Given the description of an element on the screen output the (x, y) to click on. 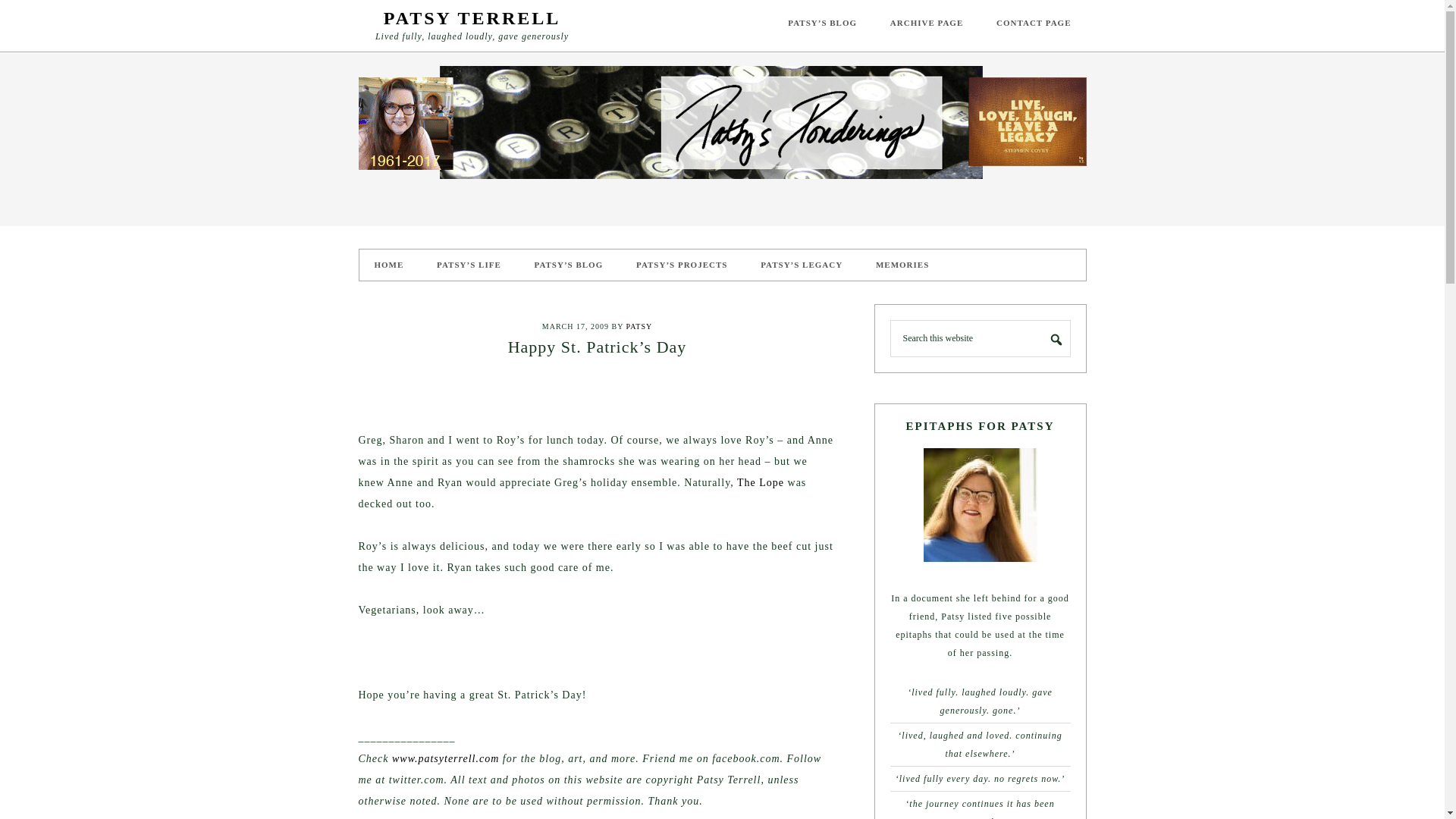
The Lope (760, 482)
CONTACT PAGE (1033, 22)
PATSY TERRELL (472, 17)
www.patsyterrell.com (445, 758)
HOME (389, 264)
PATSY (639, 326)
MEMORIES (901, 264)
ARCHIVE PAGE (926, 22)
